Given the description of an element on the screen output the (x, y) to click on. 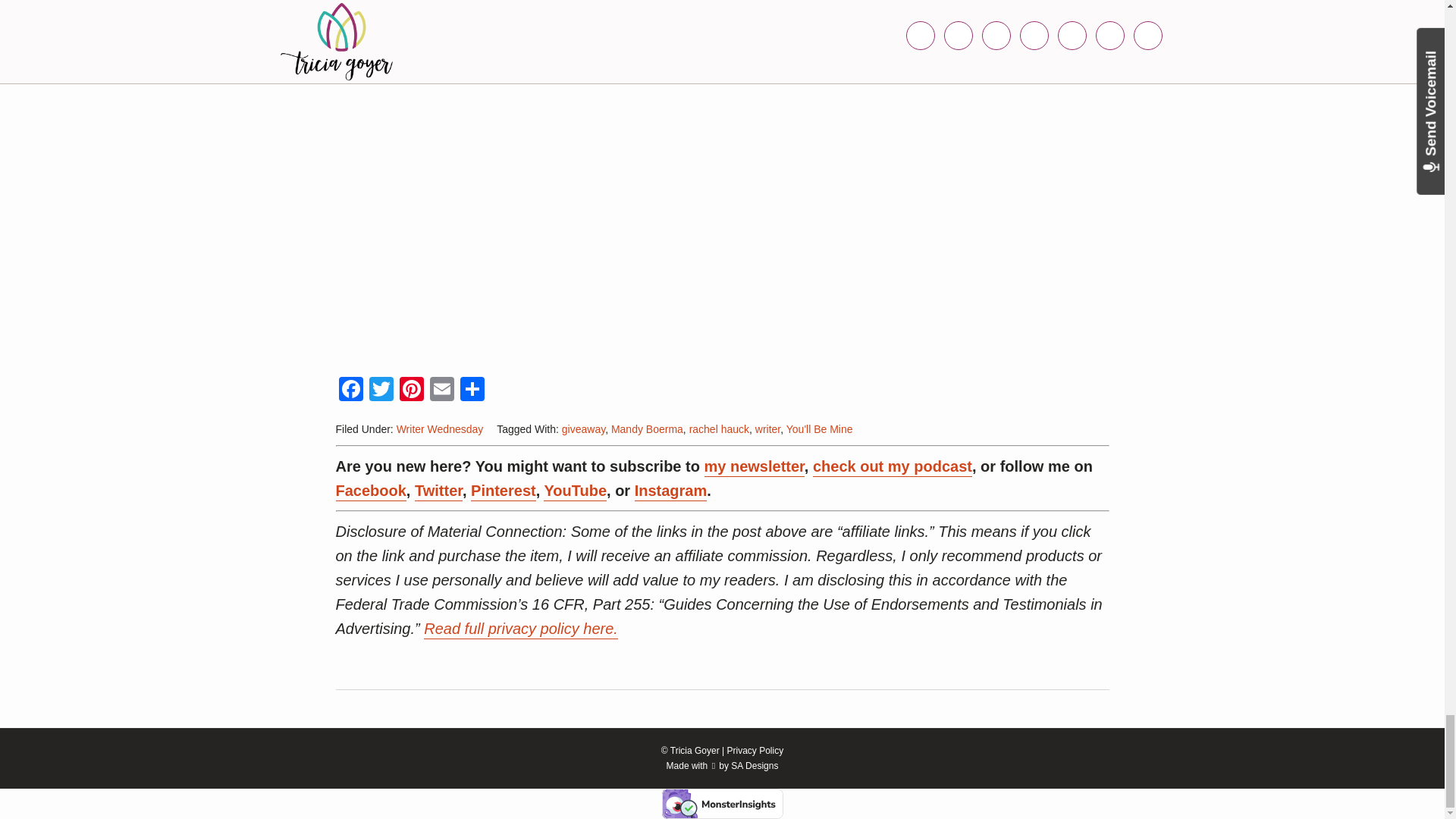
Facebook (349, 390)
Pinterest (411, 390)
Twitter (380, 390)
Email (441, 390)
